Given the description of an element on the screen output the (x, y) to click on. 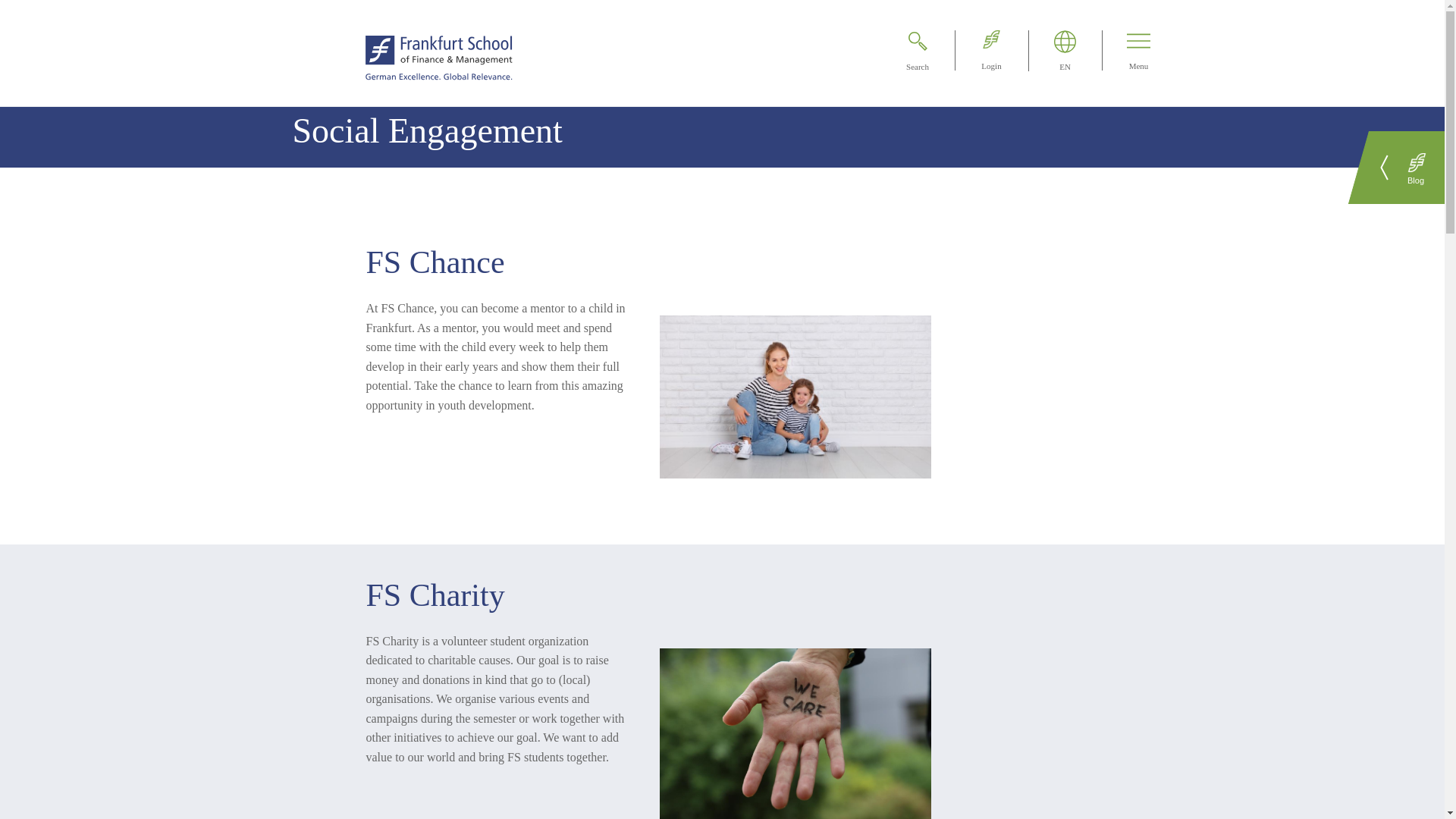
Menu (1125, 50)
Search (905, 50)
EN (1052, 50)
Login (978, 50)
